Given the description of an element on the screen output the (x, y) to click on. 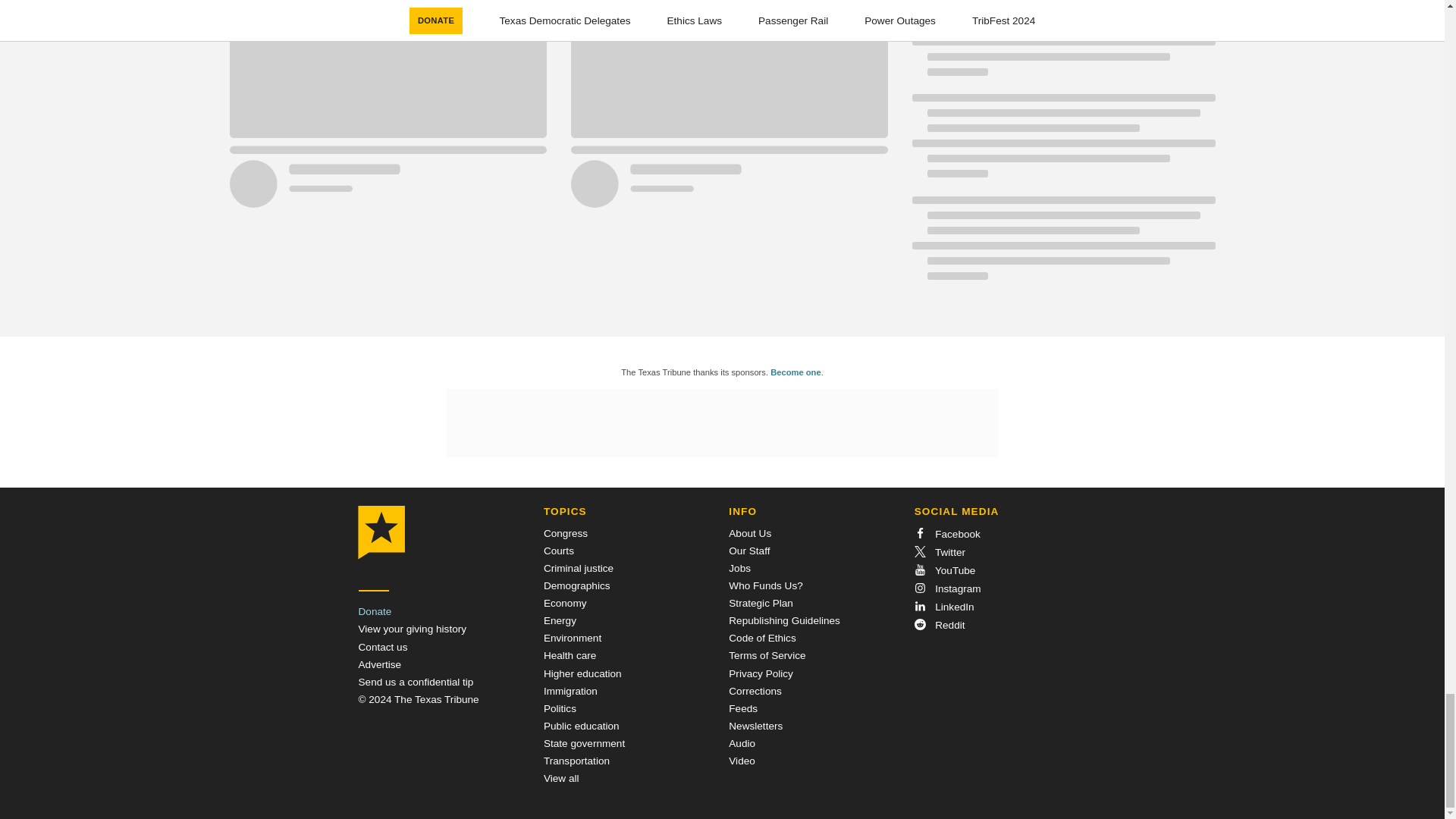
Audio (742, 743)
Newsletters (756, 726)
Terms of Service (767, 655)
About Us (750, 532)
Feeds (743, 708)
Strategic Plan (761, 603)
Who Funds Us? (765, 585)
Corrections (755, 690)
View your giving history (411, 628)
Privacy Policy (761, 673)
Code of Ethics (761, 637)
Republishing Guidelines (784, 620)
Contact us (382, 646)
Donate (374, 611)
Advertise (379, 664)
